Given the description of an element on the screen output the (x, y) to click on. 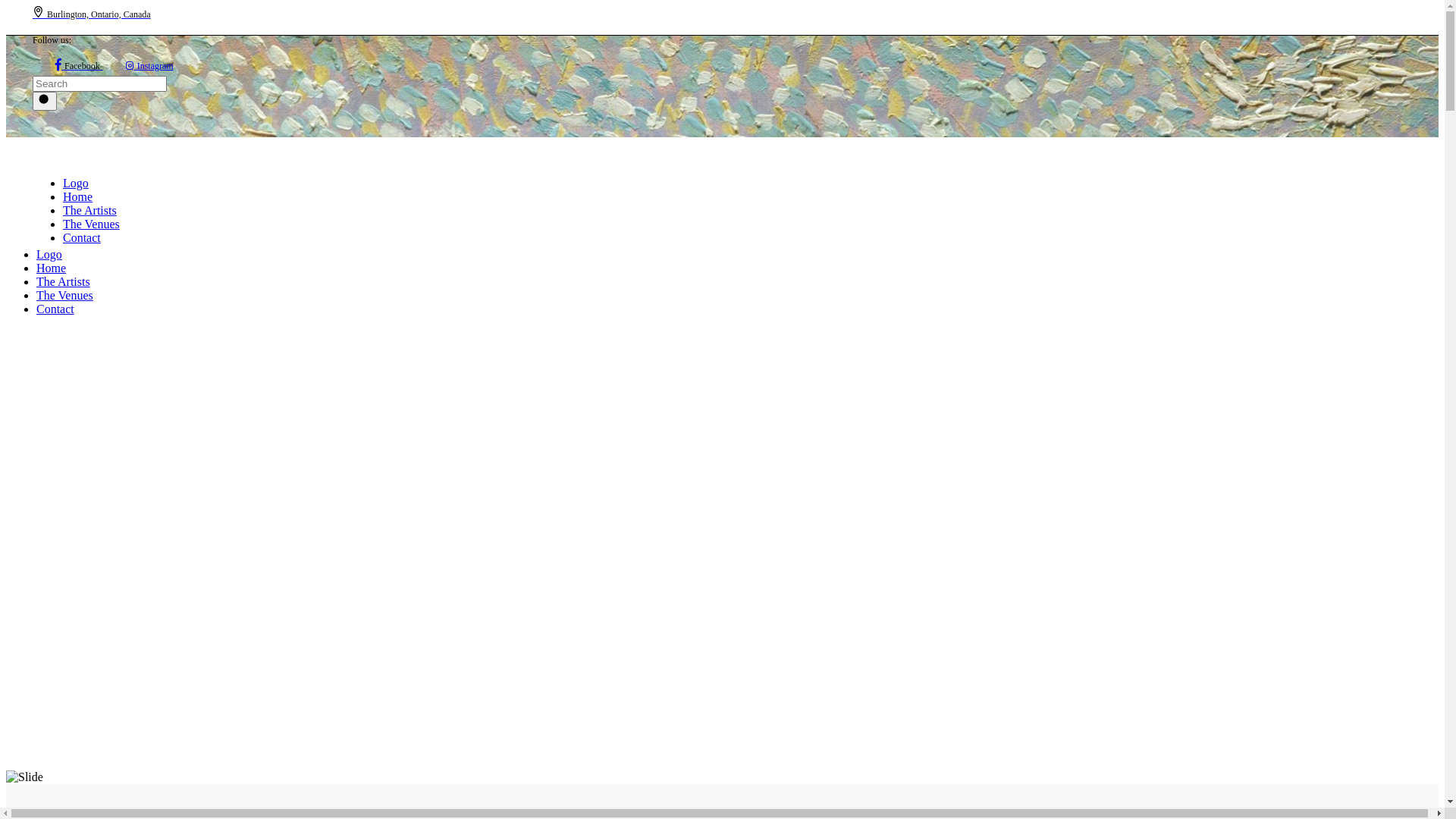
The Venues Element type: text (90, 223)
Instagram Element type: text (149, 64)
Home Element type: text (50, 267)
Contact Element type: text (55, 308)
Facebook Element type: text (79, 64)
Home Element type: text (77, 196)
Main Home Element type: hover (24, 777)
Logo Element type: text (105, 253)
The Artists Element type: text (63, 281)
Logo Element type: text (131, 182)
The Venues Element type: text (64, 294)
Contact Element type: text (81, 237)
Burlington, Ontario, Canada Element type: text (91, 12)
The Artists Element type: text (89, 209)
